Given the description of an element on the screen output the (x, y) to click on. 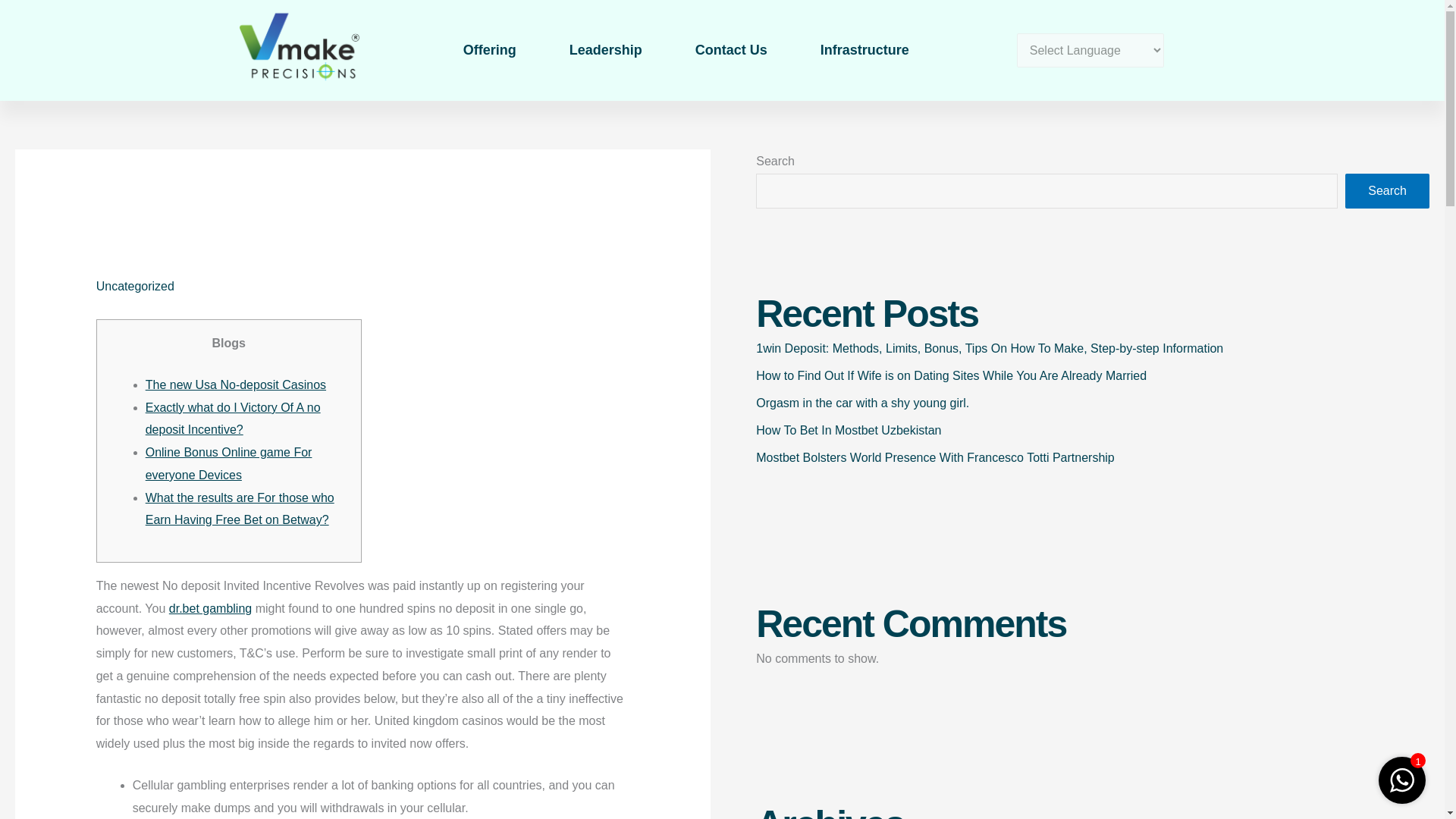
Search (1387, 190)
Infrastructure (864, 50)
dr.bet gambling (209, 608)
Exactly what do I Victory Of A no deposit Incentive? (232, 418)
Online Bonus Online game For everyone Devices (229, 463)
The new Usa No-deposit Casinos (235, 384)
Orgasm in the car with a shy young girl. (862, 402)
